Given the description of an element on the screen output the (x, y) to click on. 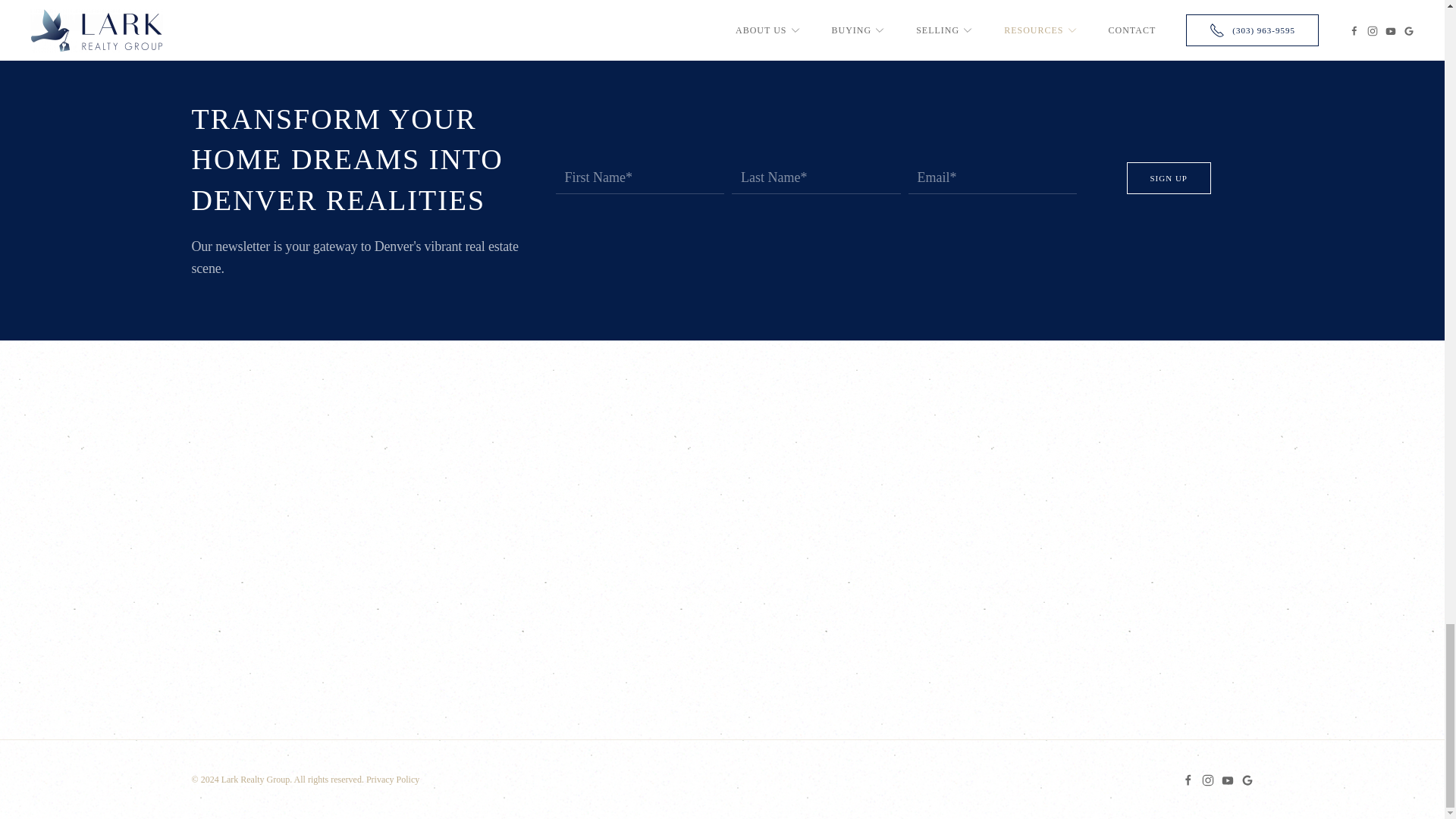
Sign Up (1168, 178)
